Given the description of an element on the screen output the (x, y) to click on. 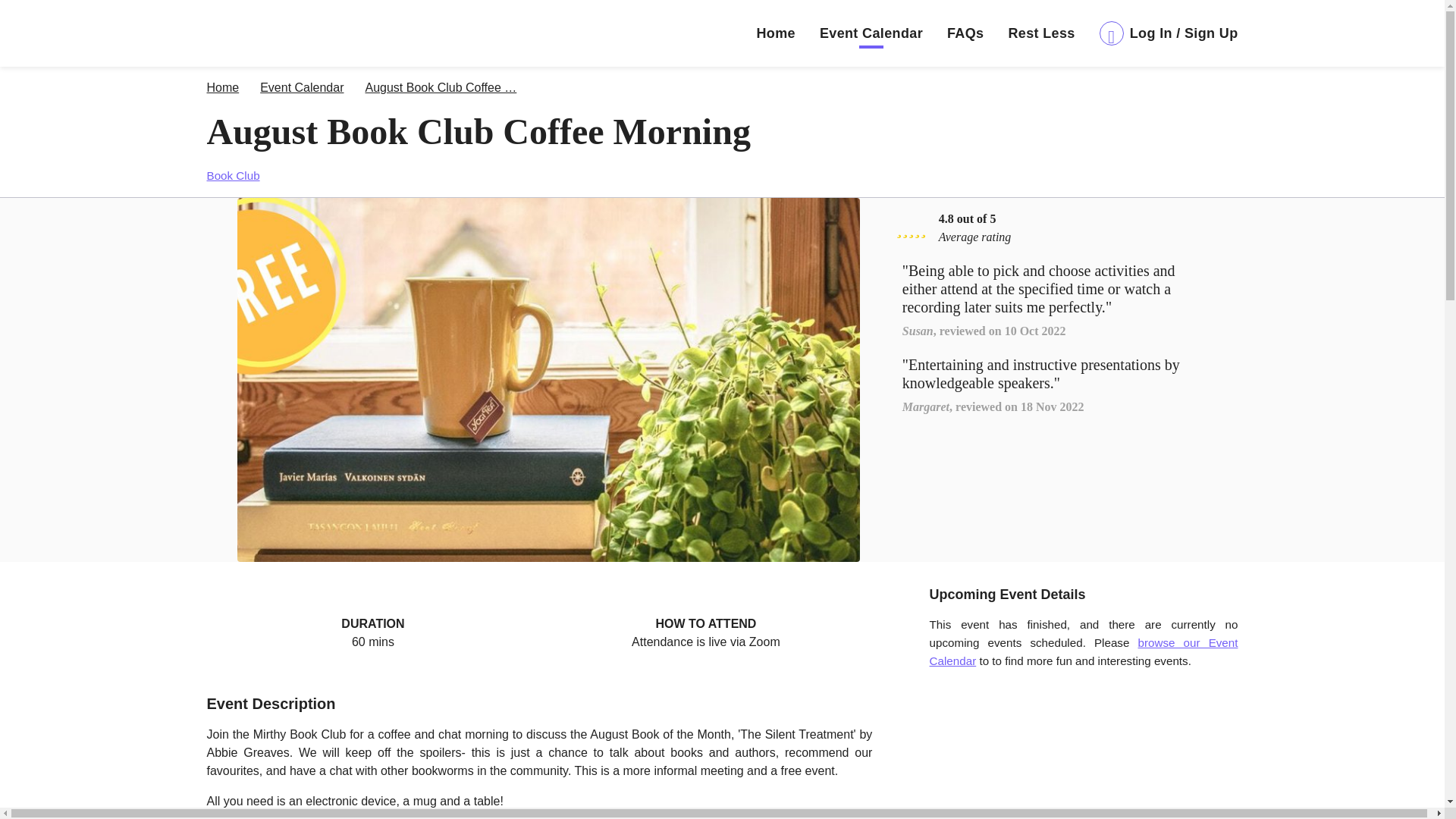
FAQs (965, 32)
Book Club (232, 174)
Rest Less (1040, 33)
Event Calendar (871, 32)
Event Calendar (301, 87)
browse our Event Calendar (1084, 651)
Event Calendar (301, 87)
Home (222, 87)
August Book Club Coffee Morning (440, 87)
Home (774, 32)
